Given the description of an element on the screen output the (x, y) to click on. 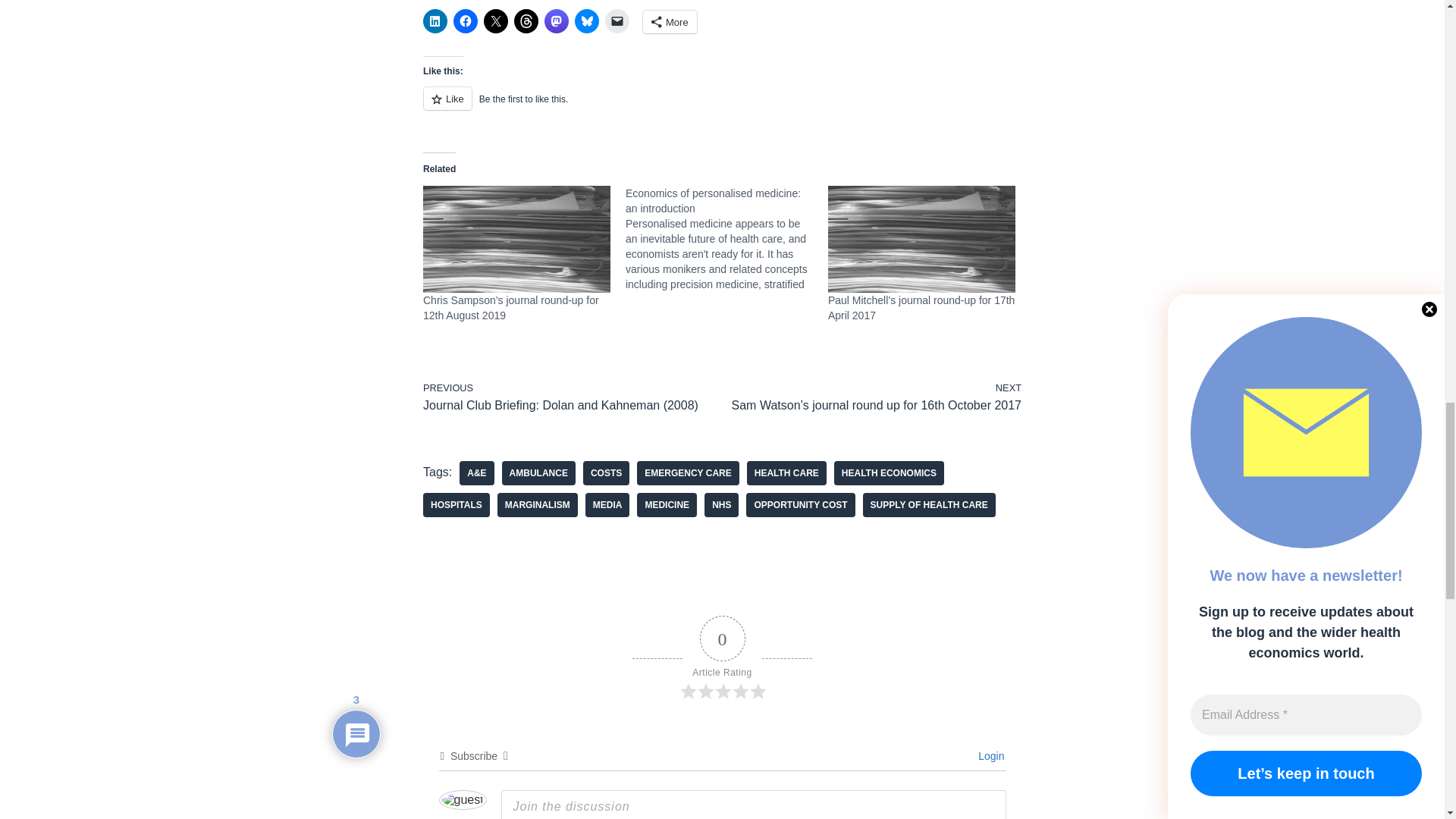
Click to share on Mastodon (556, 21)
Click to share on Threads (525, 21)
Click to share on Facebook (464, 21)
Click to share on LinkedIn (434, 21)
Click to share on X (495, 21)
Click to share on Bluesky (586, 21)
Click to email a link to a friend (616, 21)
